Given the description of an element on the screen output the (x, y) to click on. 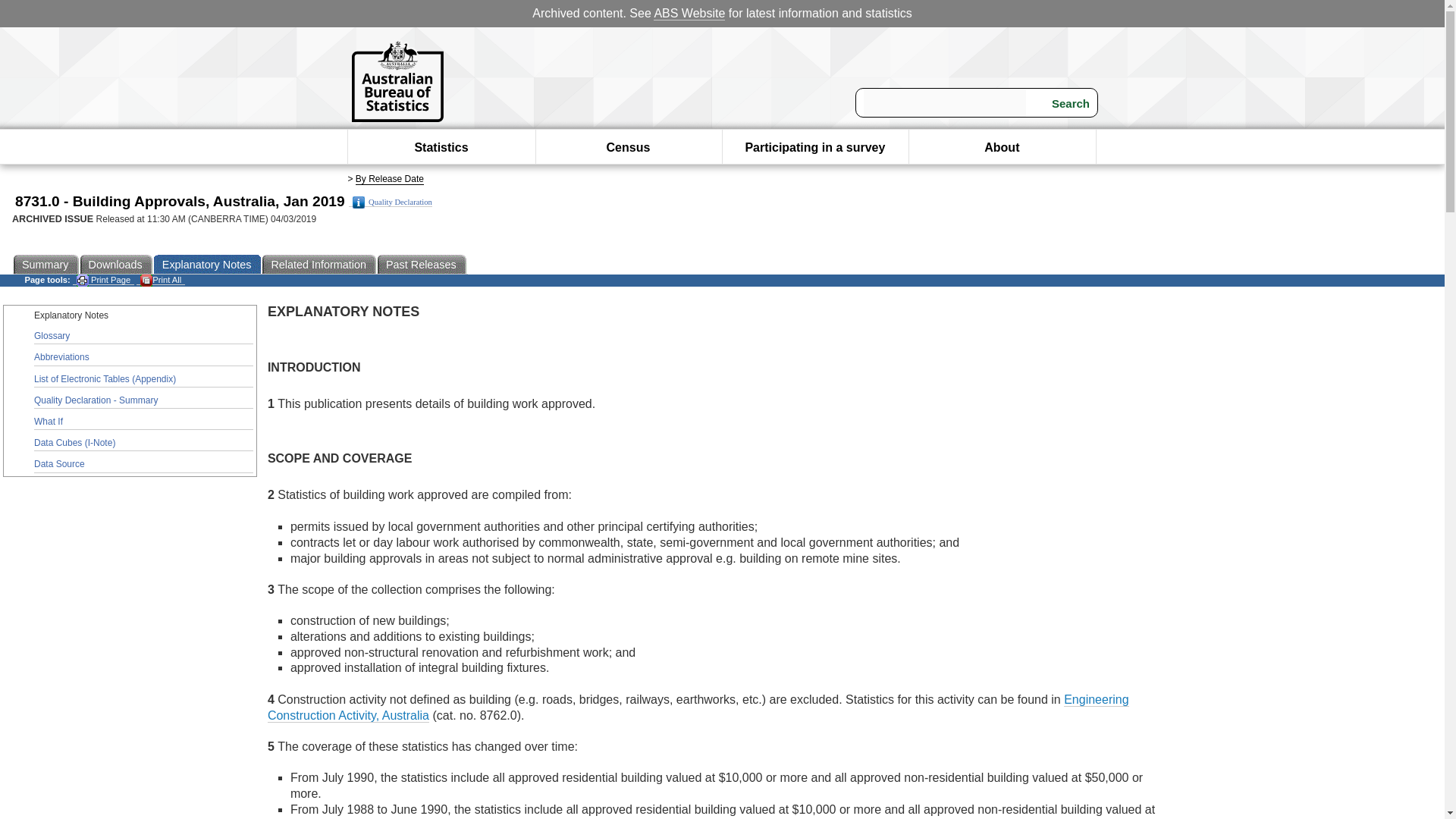
Glossary (143, 336)
Data Source (143, 464)
Abbreviations (143, 357)
Summary (46, 264)
Census (628, 147)
Quality Declaration (390, 202)
Related Information (319, 264)
Statistics (440, 147)
By Release Date (389, 179)
Print All (160, 280)
